Given the description of an element on the screen output the (x, y) to click on. 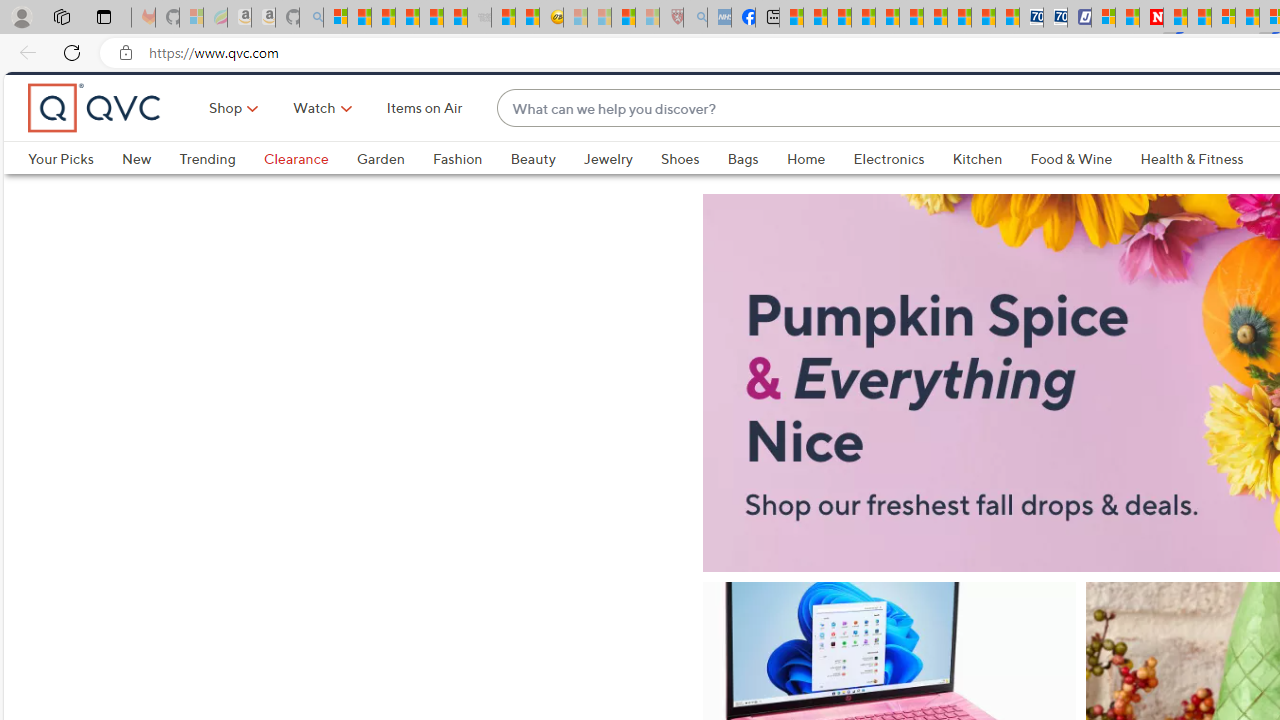
Shoes (694, 192)
Health & Fitness (1192, 192)
Garden (393, 192)
Electronics (902, 192)
14 Common Myths Debunked By Scientific Facts (1198, 17)
Bags (743, 192)
Food & Wine (1085, 192)
Cheap Car Rentals - Save70.com (1031, 17)
Beauty (546, 192)
